Given the description of an element on the screen output the (x, y) to click on. 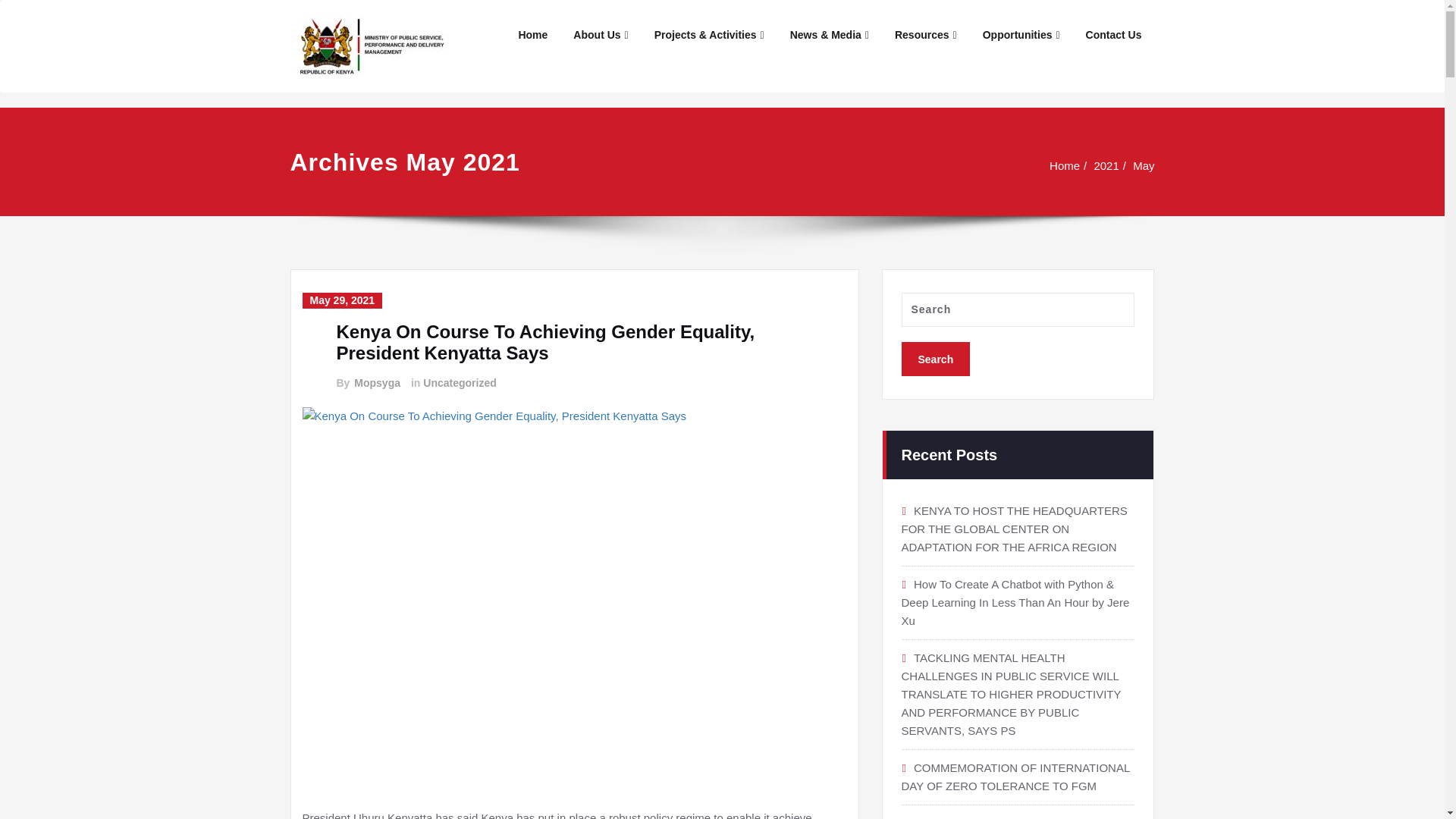
Opportunities (1021, 34)
May 29, 2021 (341, 300)
Search (935, 358)
Home (1066, 164)
Uncategorized (459, 383)
Mopsyga (376, 383)
May (1144, 164)
Resources (925, 34)
About Us (600, 34)
Search (935, 358)
2021 (1106, 164)
Contact Us (1113, 34)
